Given the description of an element on the screen output the (x, y) to click on. 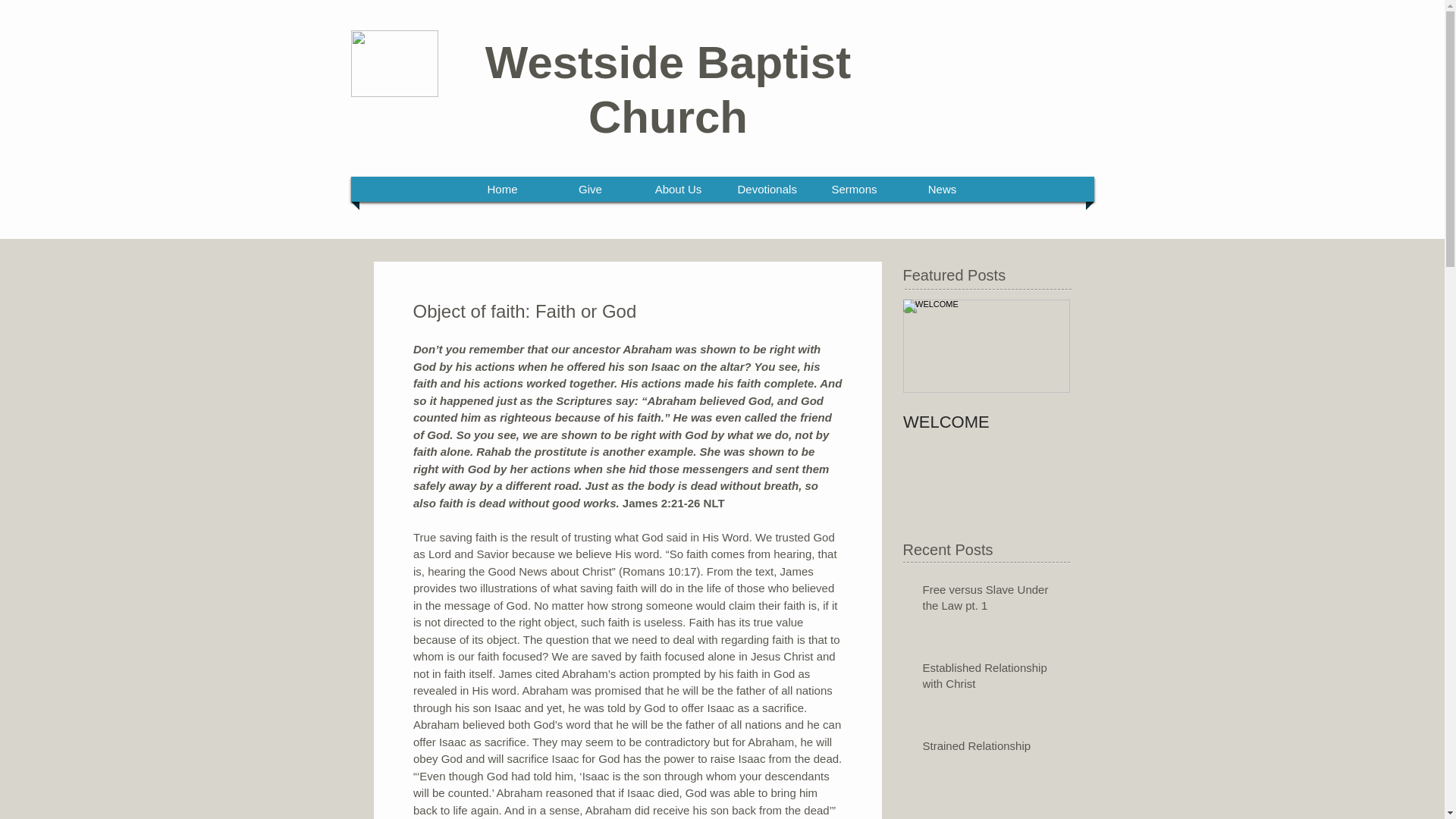
Home (503, 188)
Sermons (854, 188)
Free versus Slave Under the Law pt. 1 (990, 600)
Devotionals (766, 188)
Strained Relationship (990, 748)
Give (590, 188)
Established Relationship with Christ (990, 678)
About Us (679, 188)
Warning of Being Enslaved by Legalism (990, 817)
News (942, 188)
WELCOME (985, 422)
